Given the description of an element on the screen output the (x, y) to click on. 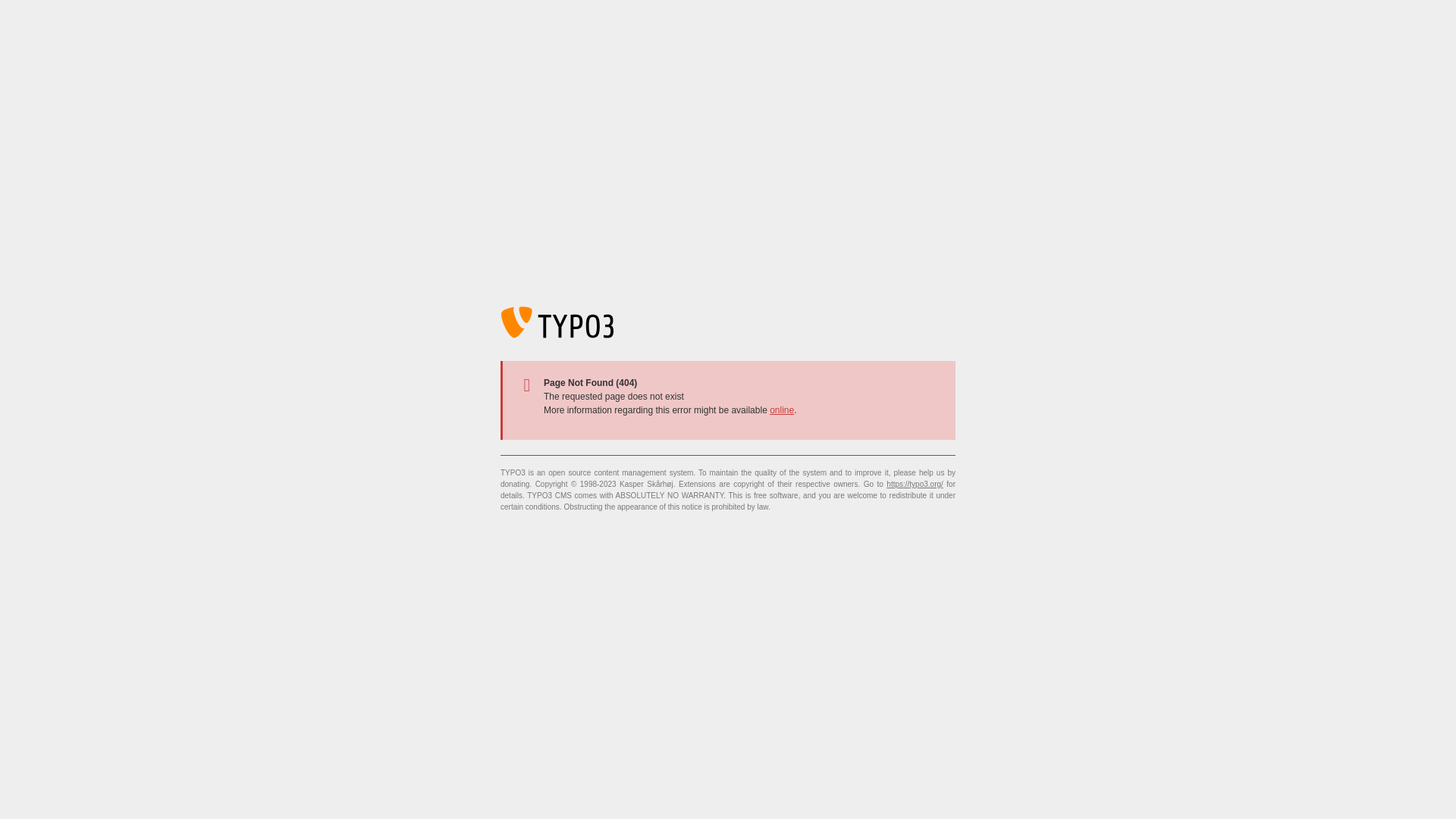
online Element type: text (781, 409)
https://typo3.org/ Element type: text (914, 484)
